Given the description of an element on the screen output the (x, y) to click on. 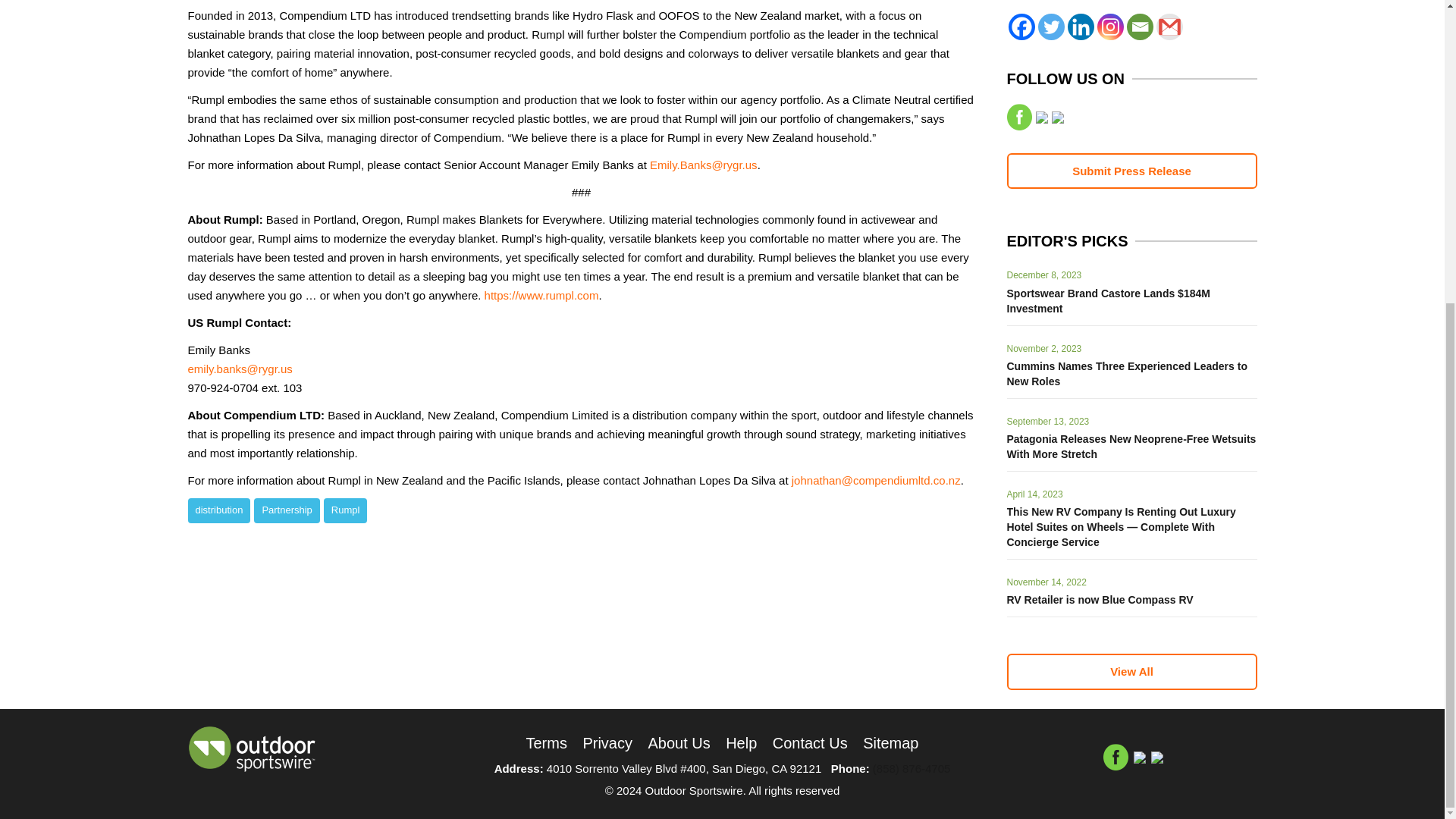
Instagram (1109, 26)
Twitter (1050, 26)
Facebook (1022, 26)
Linkedin (1080, 26)
Email (1139, 26)
Google Gmail (1169, 26)
